Given the description of an element on the screen output the (x, y) to click on. 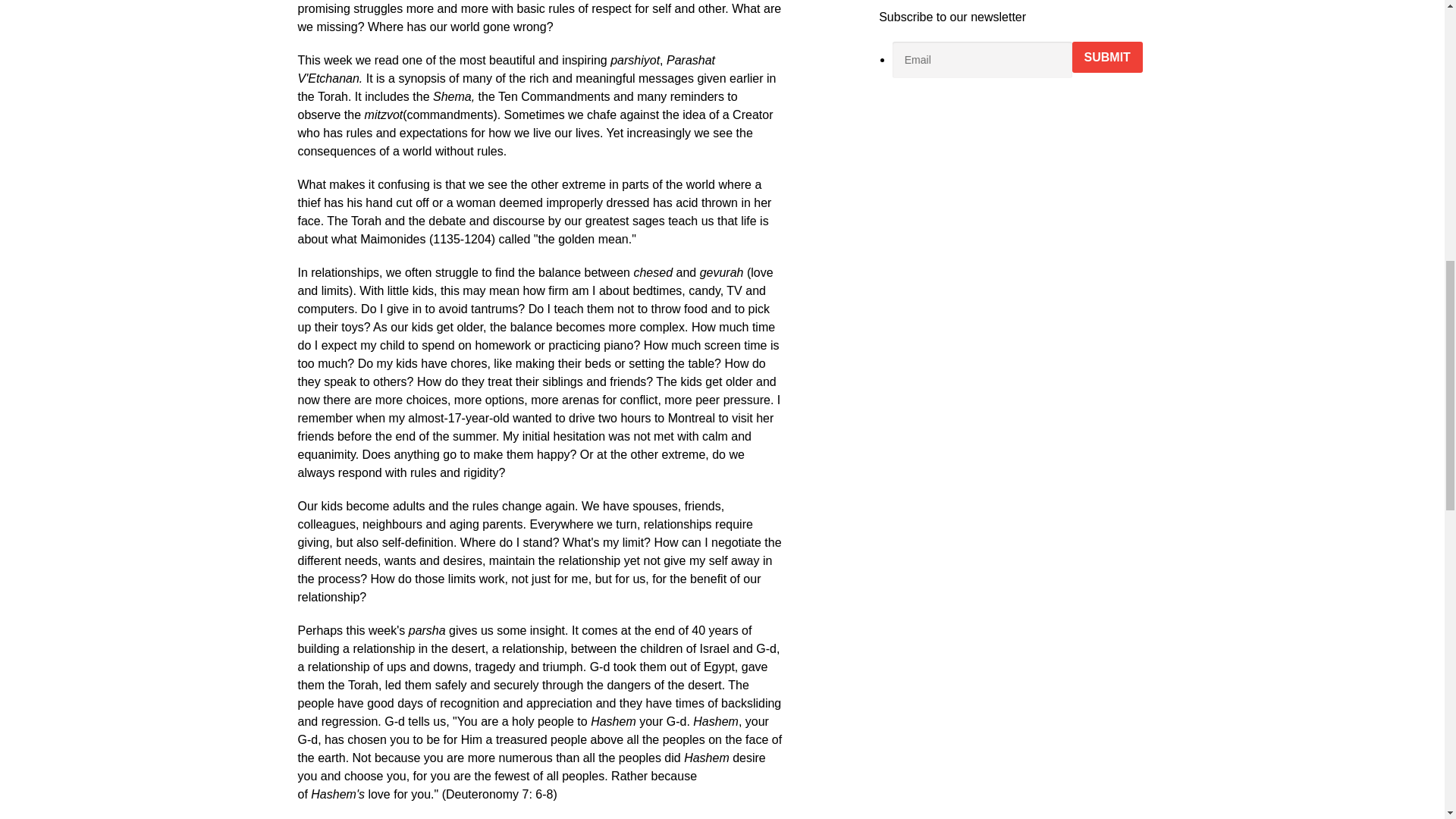
Submit (1106, 57)
